Given the description of an element on the screen output the (x, y) to click on. 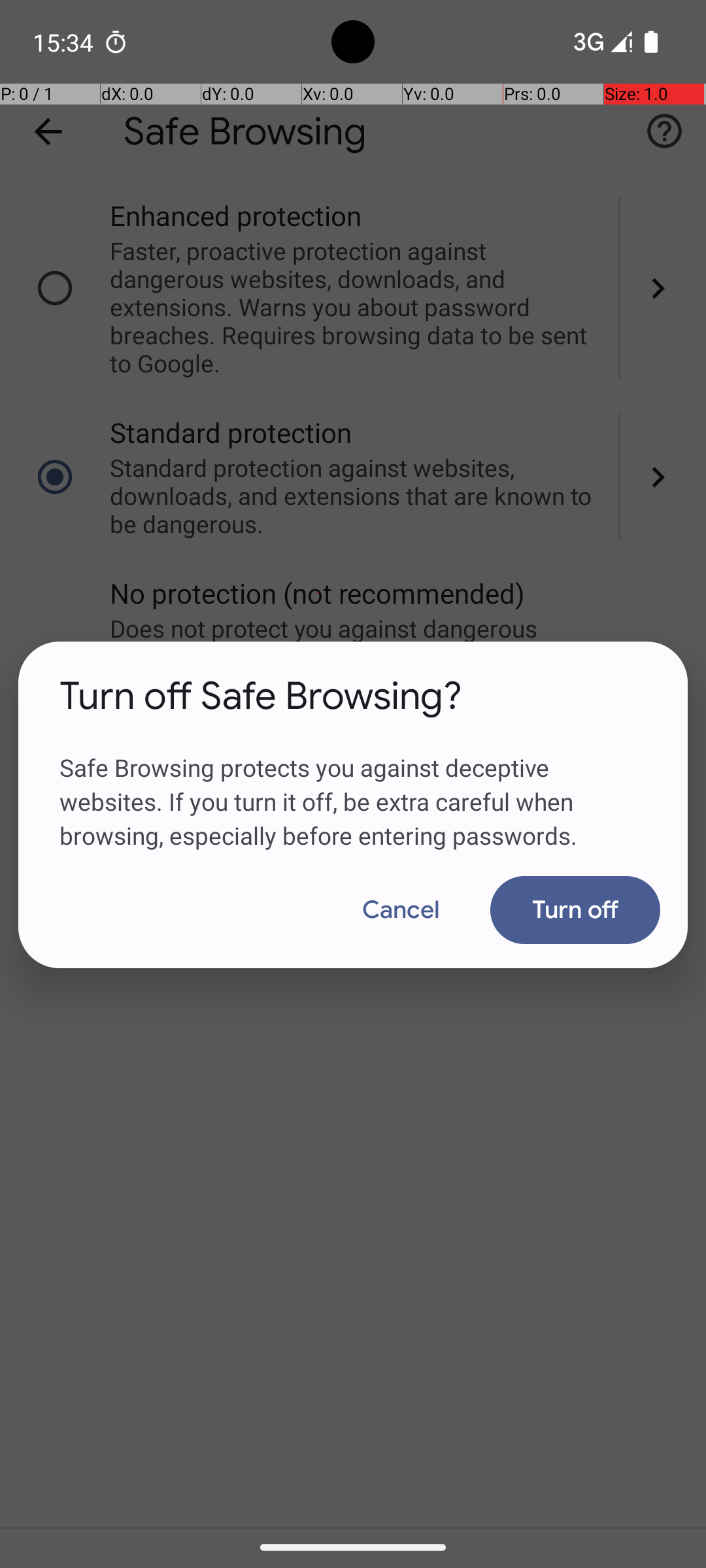
Turn off Safe Browsing? Element type: android.widget.TextView (260, 695)
Safe Browsing protects you against deceptive websites. If you turn it off, be extra careful when browsing, especially before entering passwords. Element type: android.widget.TextView (352, 785)
Turn off Element type: android.widget.Button (575, 909)
